Given the description of an element on the screen output the (x, y) to click on. 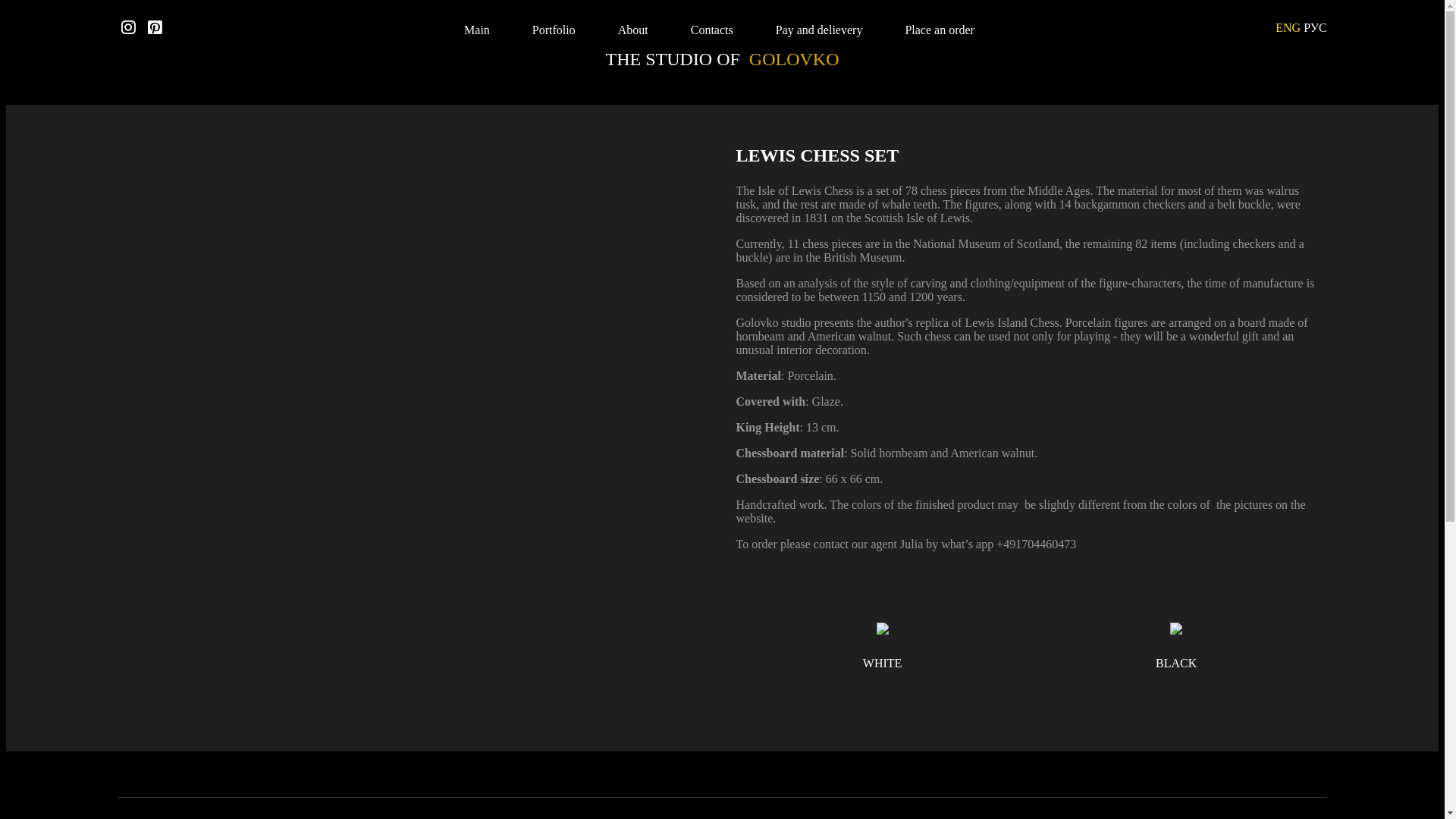
Skip to main content Element type: text (56, 6)
  Element type: text (156, 27)
WHITE Element type: text (882, 646)
Place an order Element type: text (939, 29)
Pay and delievery Element type: text (818, 29)
Portfolio Element type: text (553, 29)
About Element type: text (633, 29)
Main Element type: text (476, 29)
ENG Element type: text (1287, 27)
  Element type: text (130, 27)
Contacts Element type: text (711, 29)
BLACK Element type: text (1175, 646)
